Given the description of an element on the screen output the (x, y) to click on. 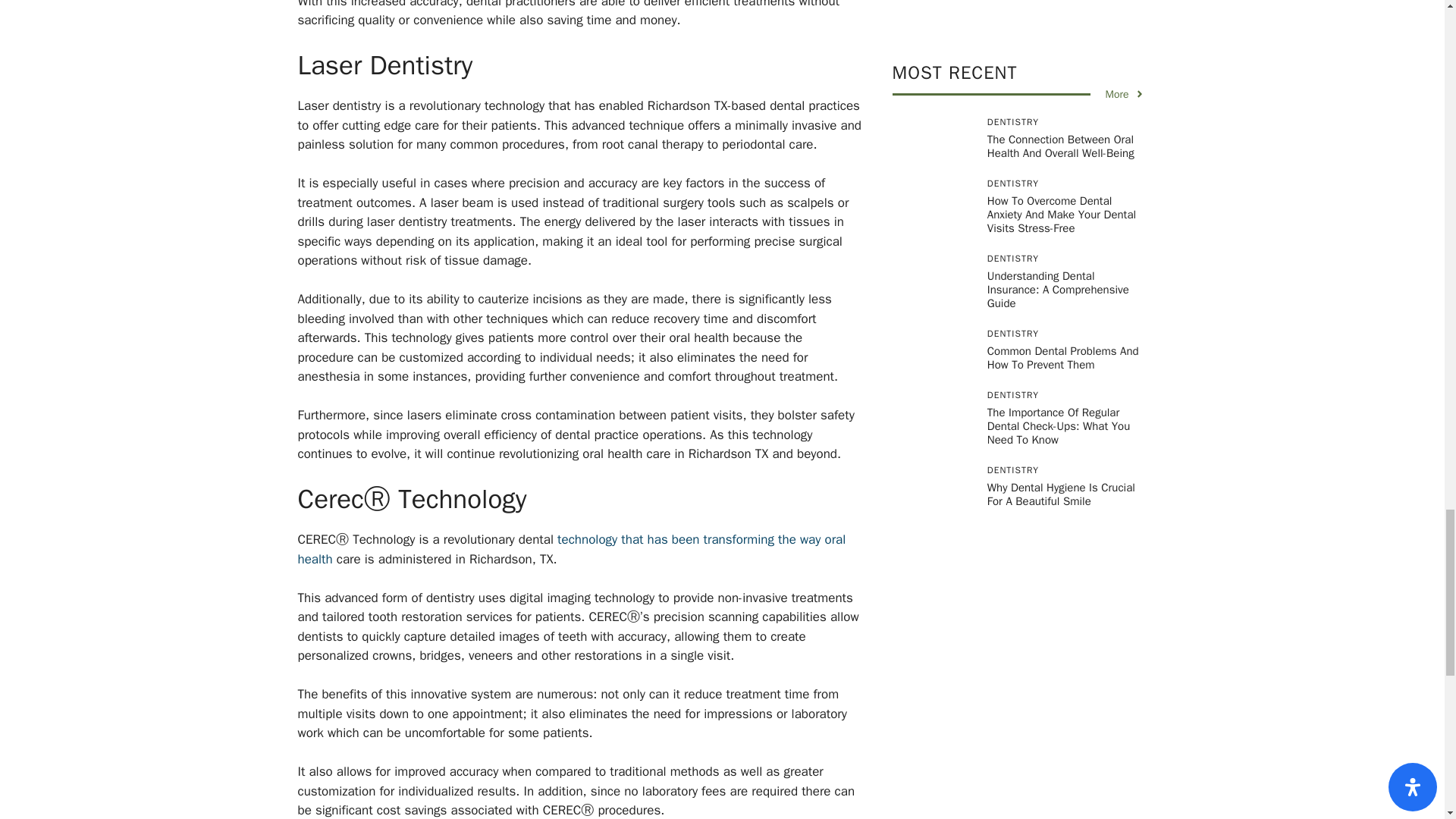
technology that has been transforming the way oral health (571, 549)
